Given the description of an element on the screen output the (x, y) to click on. 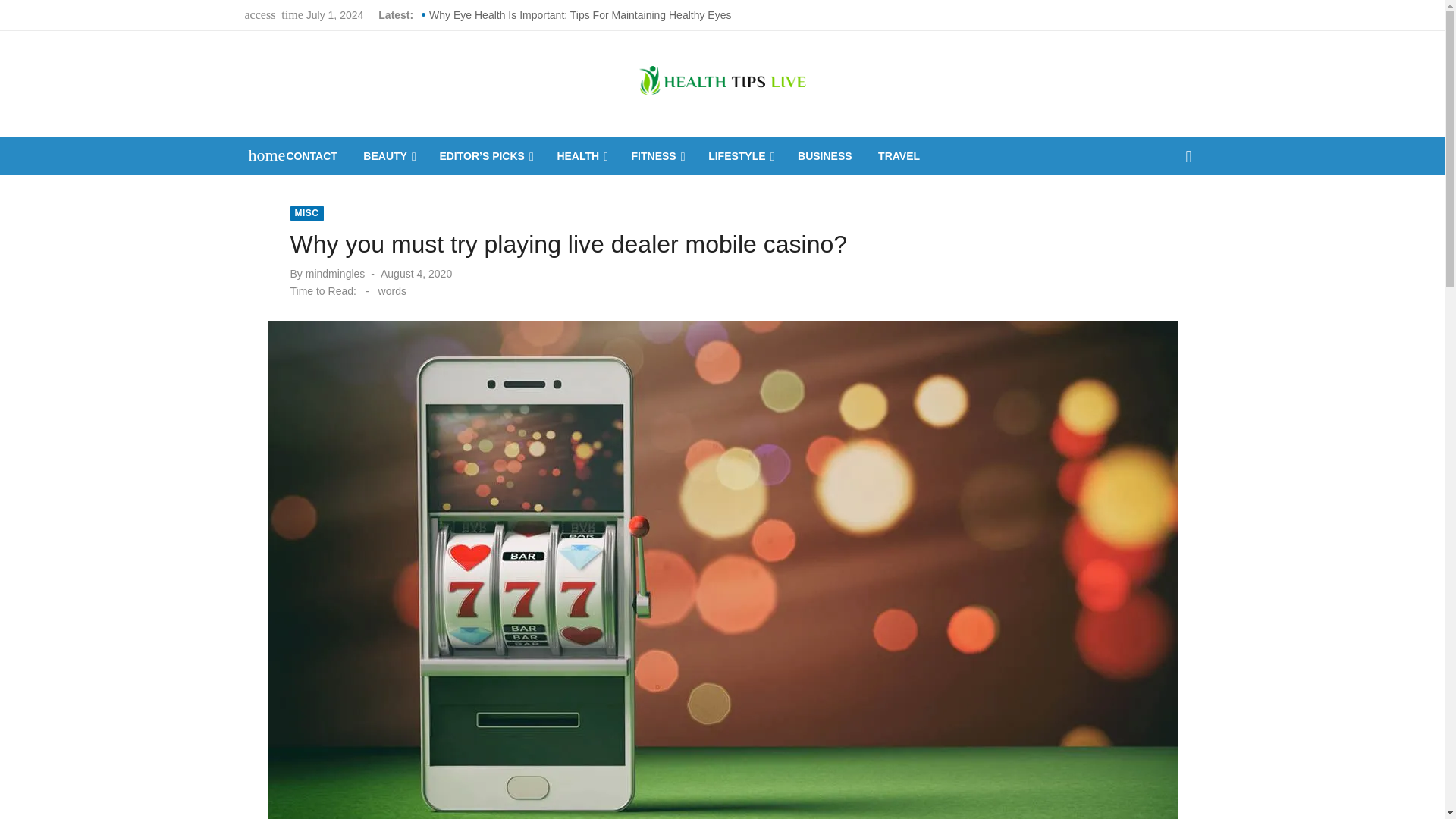
home (259, 154)
CONTACT (312, 156)
BEAUTY (387, 156)
FITNESS (657, 156)
HEALTH (580, 156)
